Given the description of an element on the screen output the (x, y) to click on. 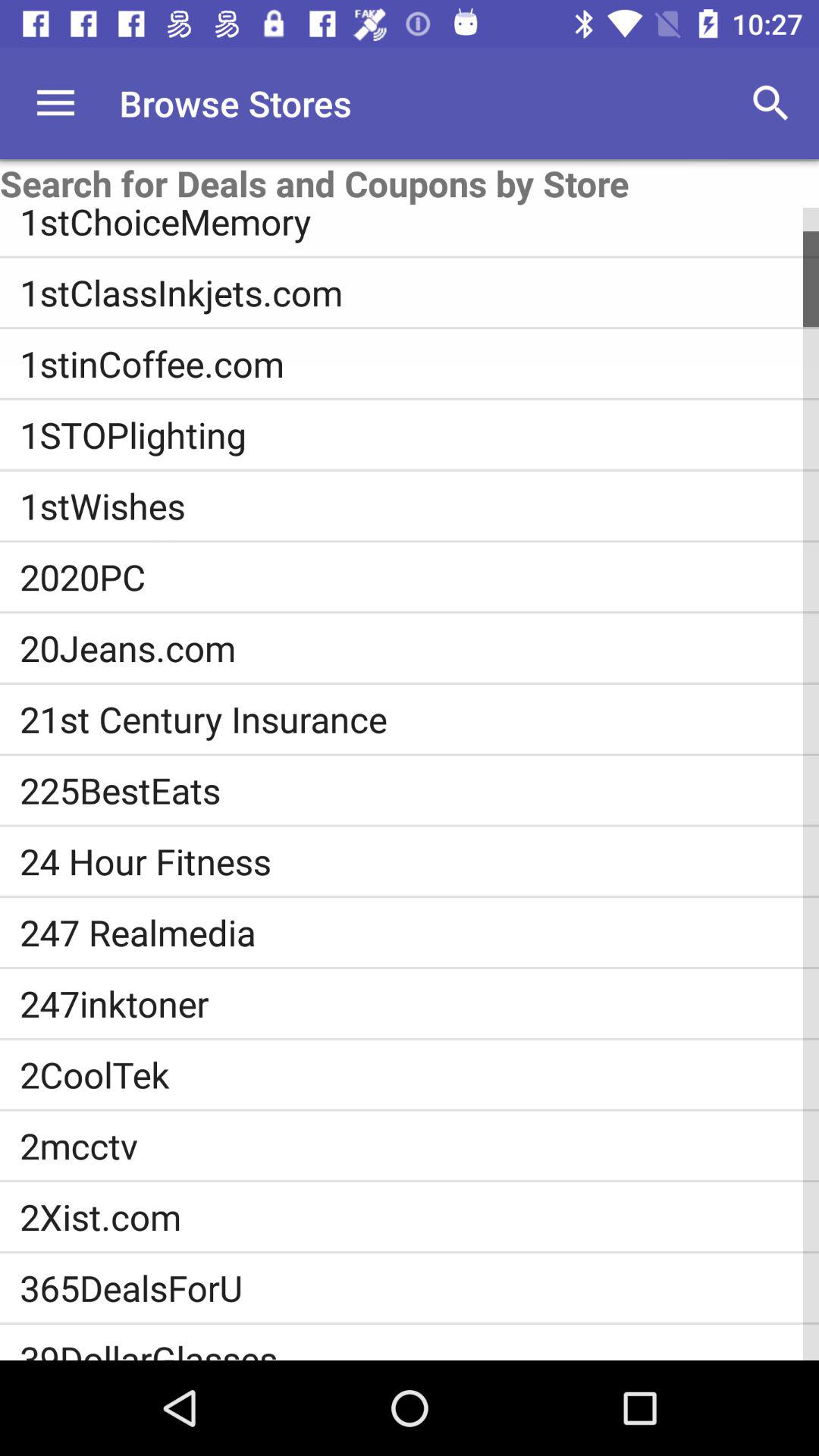
jump to 1stoplighting item (419, 434)
